Given the description of an element on the screen output the (x, y) to click on. 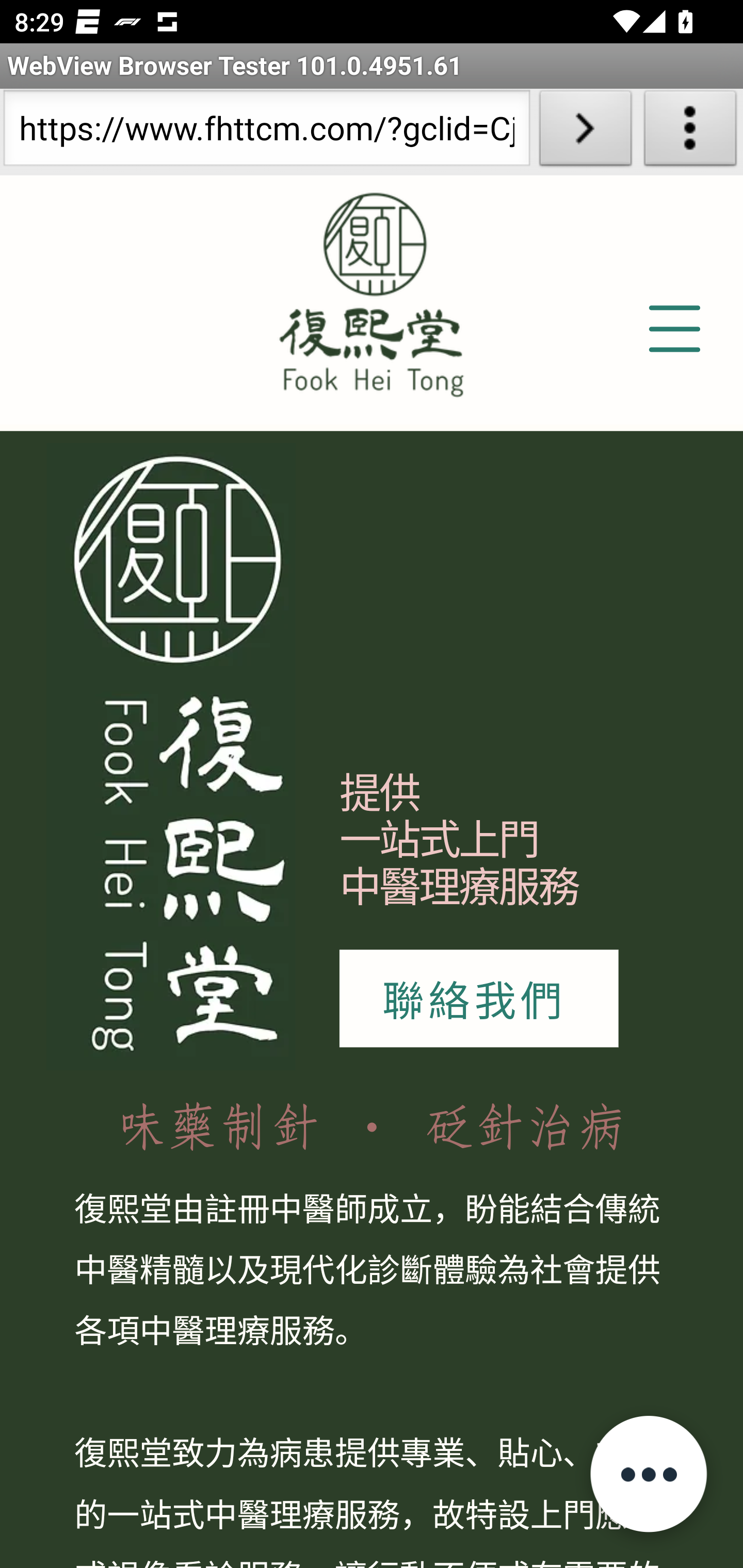
Load URL (585, 132)
About WebView (690, 132)
Open navigation menu (673, 329)
復熙堂 (171, 756)
聯絡我們 (478, 998)
快速操作 (647, 1472)
